Given the description of an element on the screen output the (x, y) to click on. 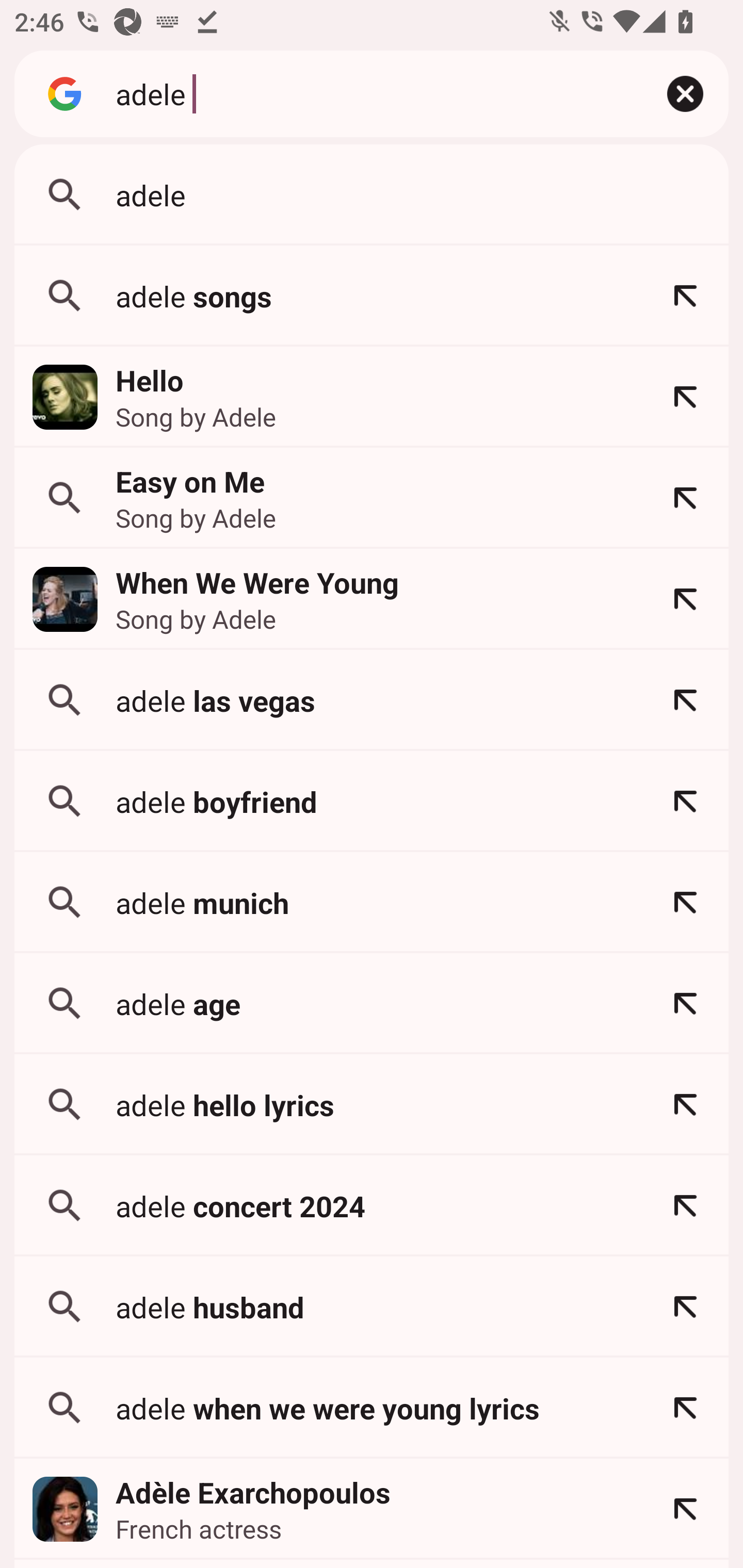
Clear input (684, 93)
adele  (367, 92)
adele (371, 195)
adele songs Refine: adele songs (371, 296)
Refine: adele songs (684, 296)
Hello Song by Adele Refine: adele hello (371, 397)
Refine: adele hello (684, 397)
Easy on Me Song by Adele Refine: adele easy on me (371, 498)
Refine: adele easy on me (684, 498)
Refine: adele when we were young (684, 598)
adele las vegas Refine: adele las vegas (371, 700)
Refine: adele las vegas (684, 700)
adele boyfriend Refine: adele boyfriend (371, 801)
Refine: adele boyfriend (684, 801)
adele munich Refine: adele munich (371, 902)
Refine: adele munich (684, 902)
adele age Refine: adele age (371, 1003)
Refine: adele age (684, 1003)
adele hello lyrics Refine: adele hello lyrics (371, 1104)
Refine: adele hello lyrics (684, 1104)
adele concert 2024 Refine: adele concert 2024 (371, 1205)
Refine: adele concert 2024 (684, 1205)
adele husband Refine: adele husband (371, 1306)
Refine: adele husband (684, 1306)
Refine: adele when we were young lyrics (684, 1407)
Refine: adele exarchopoulos (684, 1509)
